Given the description of an element on the screen output the (x, y) to click on. 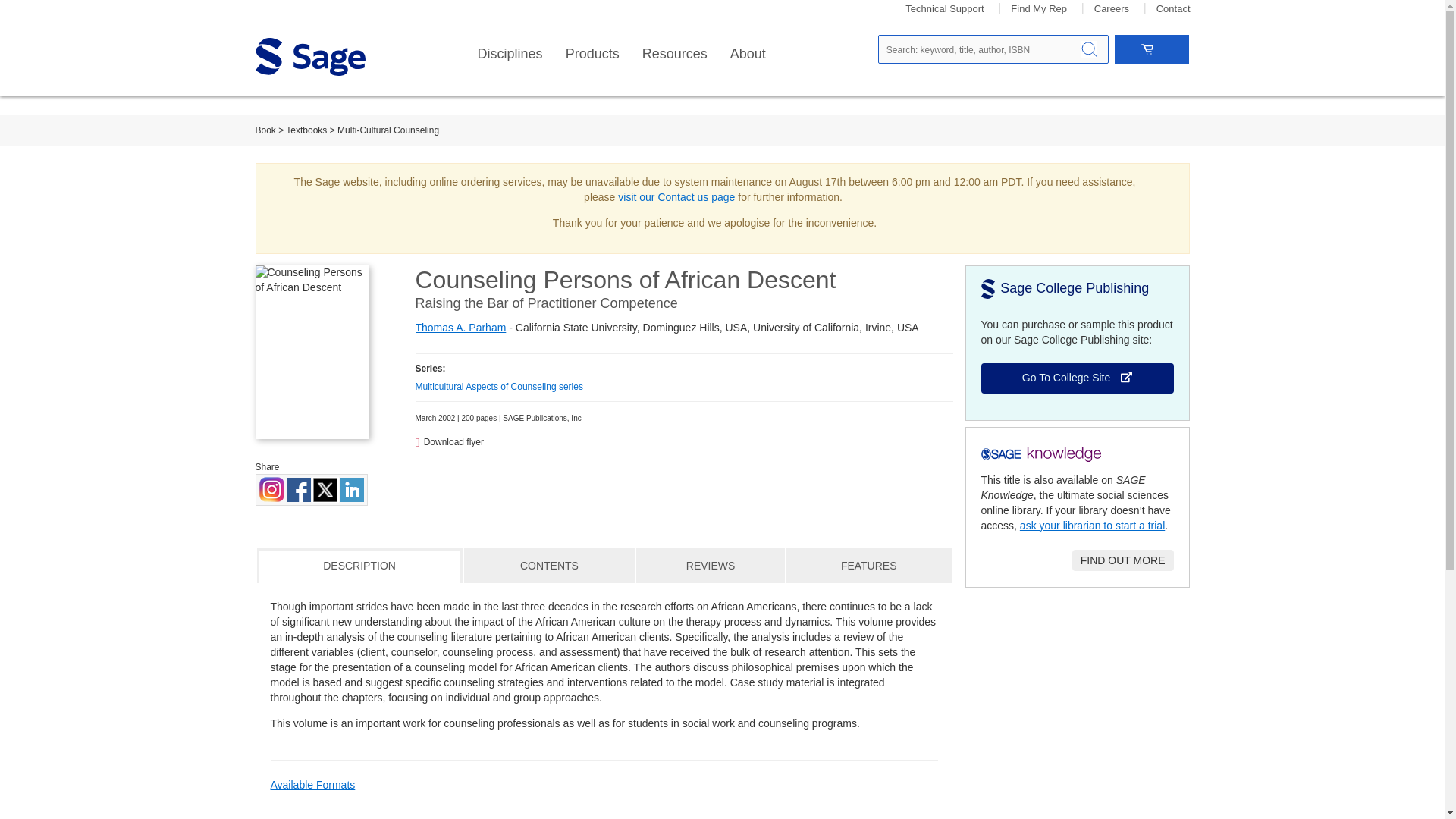
Find My Rep (1038, 8)
Careers (1111, 8)
Sage logo: link back to homepage (309, 56)
Contact (1173, 8)
Technical Support (944, 8)
Disciplines (509, 53)
Search (1089, 48)
